Given the description of an element on the screen output the (x, y) to click on. 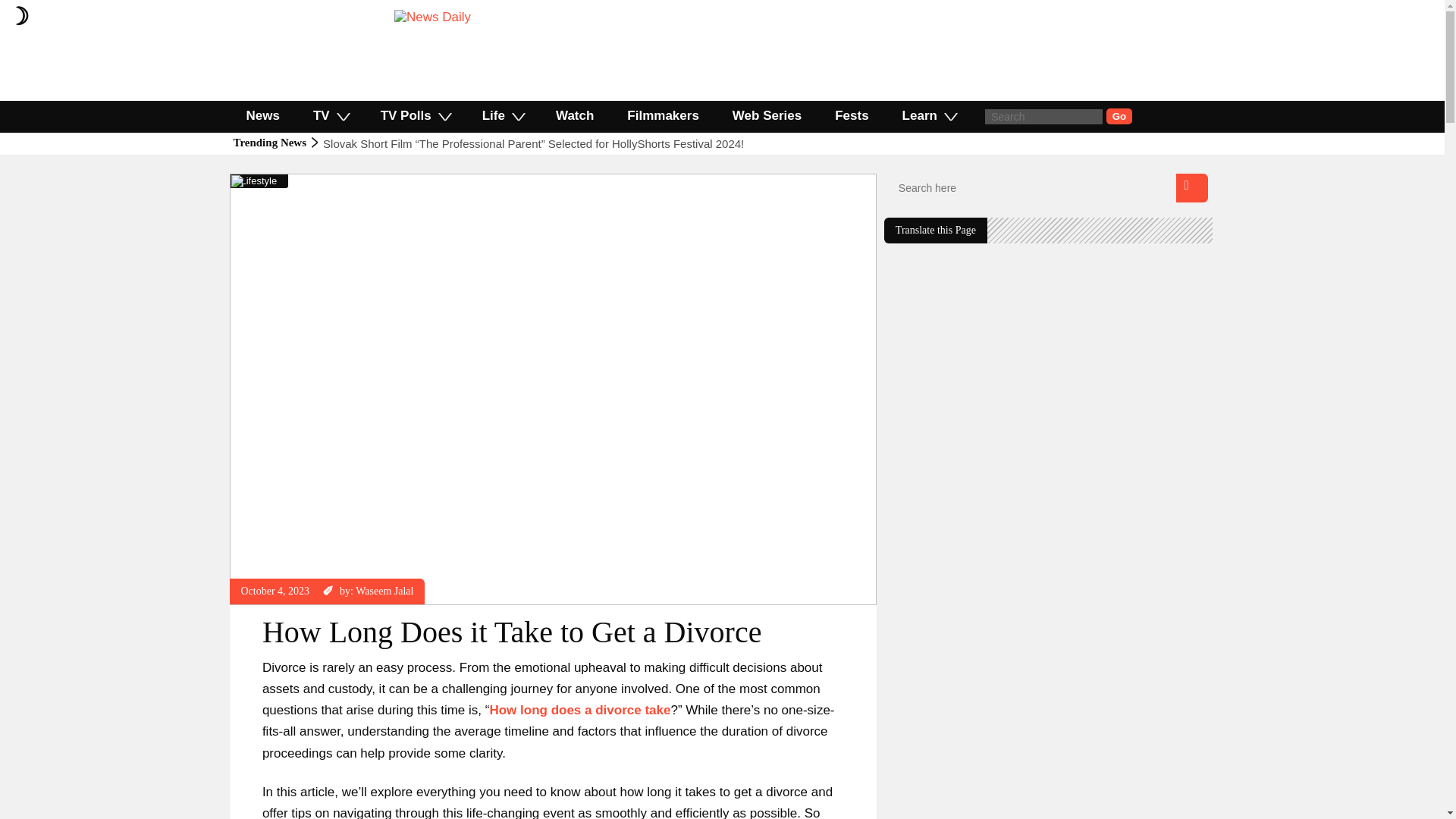
Filmmakers (663, 115)
Life (501, 115)
October 4, 2023 (275, 591)
Go (1119, 116)
News (261, 115)
Watch (574, 115)
Go (1119, 116)
Fact check: was there a blackout at the Paris Olympics? (464, 143)
Lifestyle (259, 180)
TV Polls (414, 115)
Learn (928, 115)
Go (1119, 116)
TV (330, 115)
Fests (851, 115)
Web Series (767, 115)
